Given the description of an element on the screen output the (x, y) to click on. 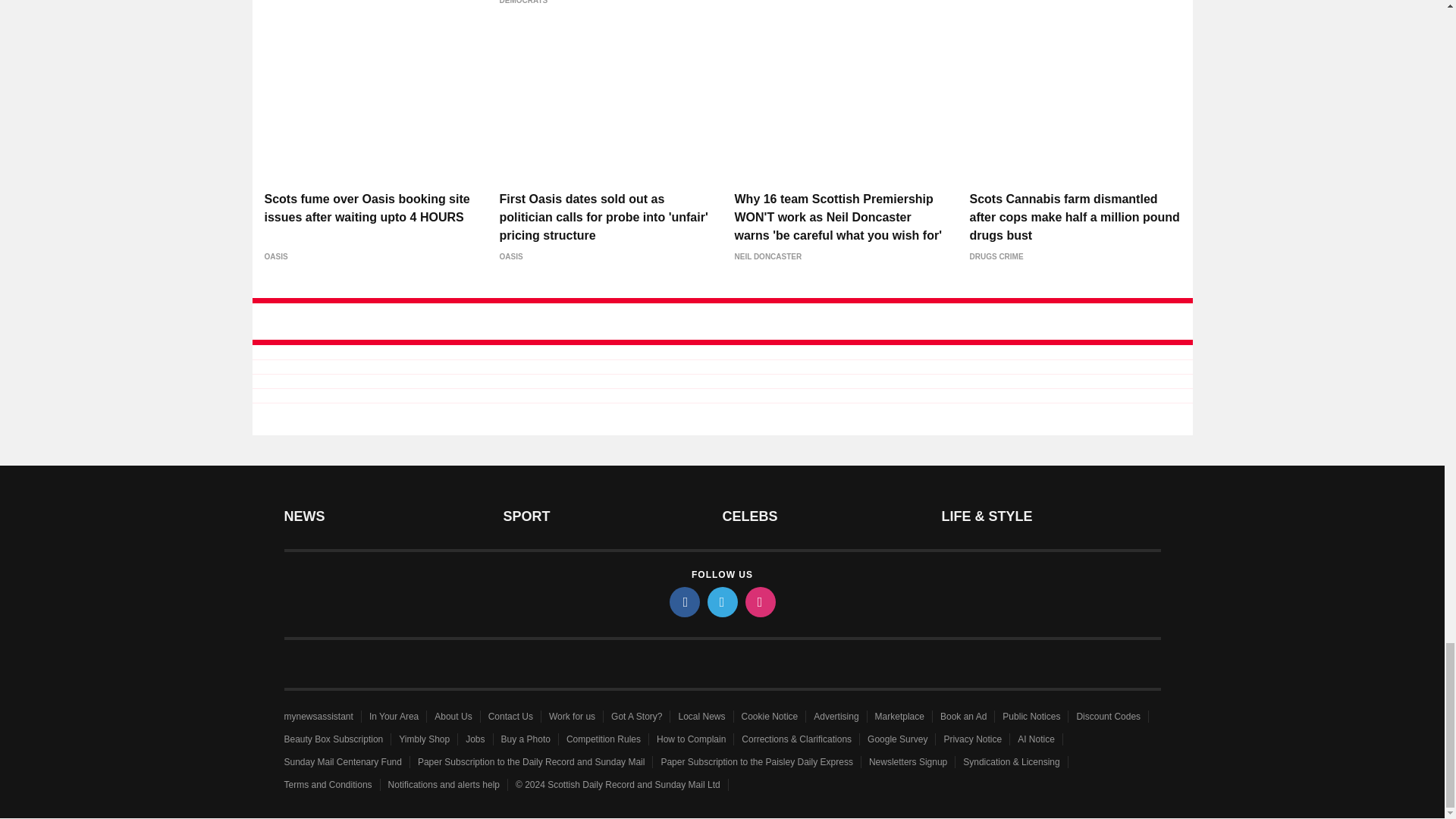
twitter (721, 602)
instagram (759, 602)
facebook (683, 602)
